Given the description of an element on the screen output the (x, y) to click on. 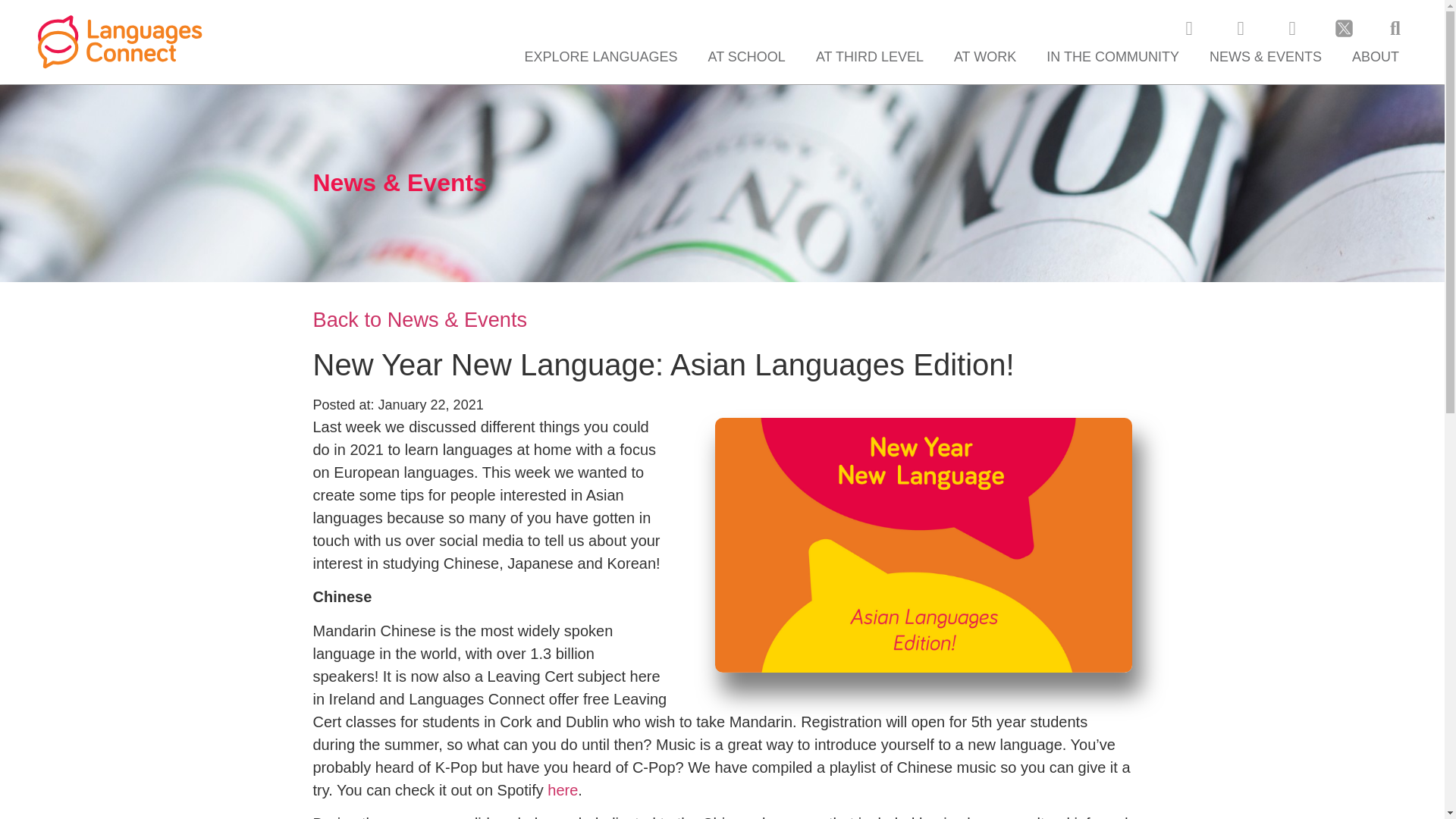
EXPLORE LANGUAGES (600, 56)
AT WORK (984, 56)
AT SCHOOL (746, 56)
IN THE COMMUNITY (1111, 56)
AT THIRD LEVEL (869, 56)
